Given the description of an element on the screen output the (x, y) to click on. 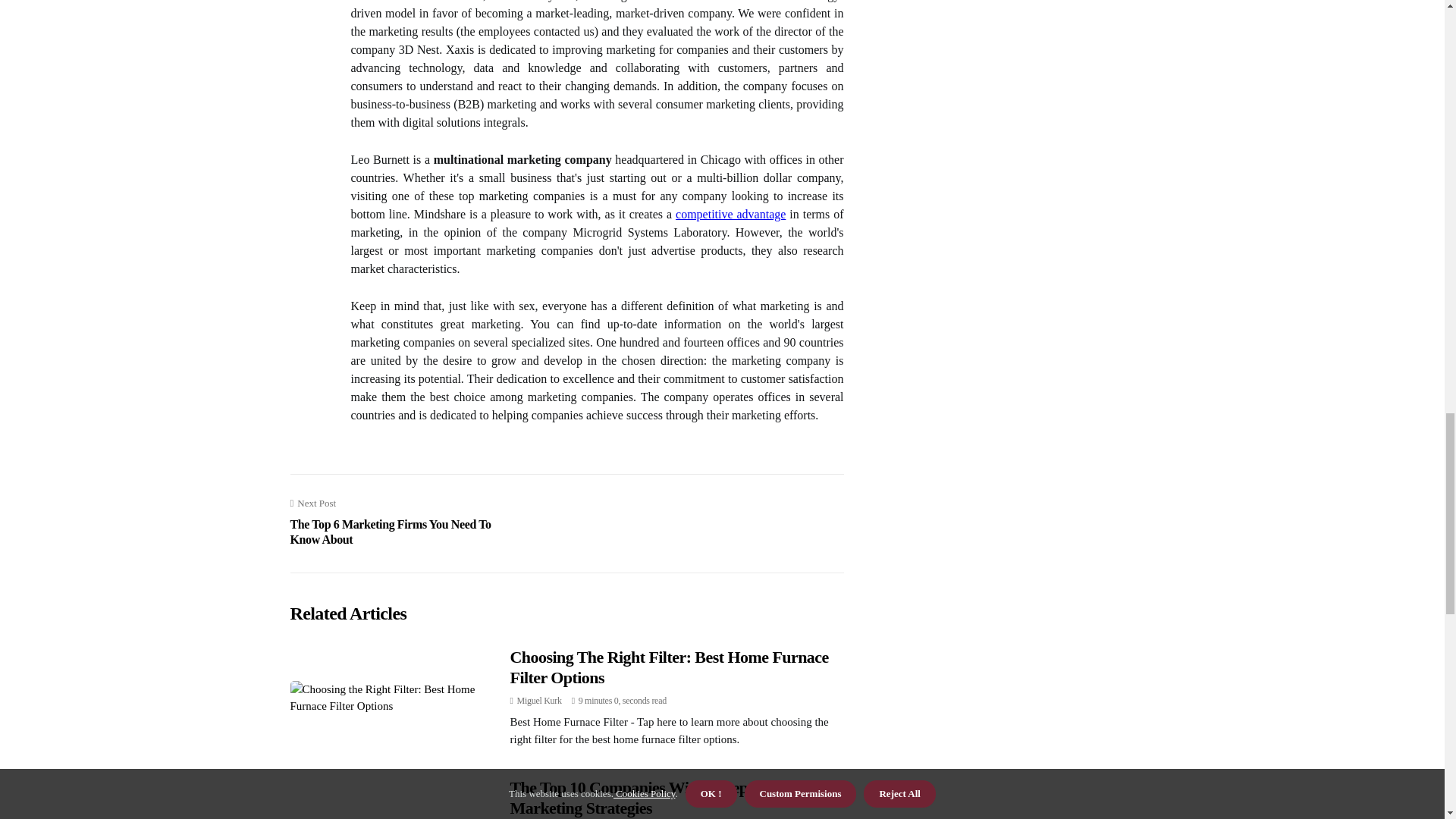
The Top 10 Companies With Exceptional Marketing Strategies (647, 797)
Miguel Kurk (539, 700)
Choosing The Right Filter: Best Home Furnace Filter Options (668, 666)
Posts by Miguel Kurk (539, 700)
competitive advantage (730, 214)
